Given the description of an element on the screen output the (x, y) to click on. 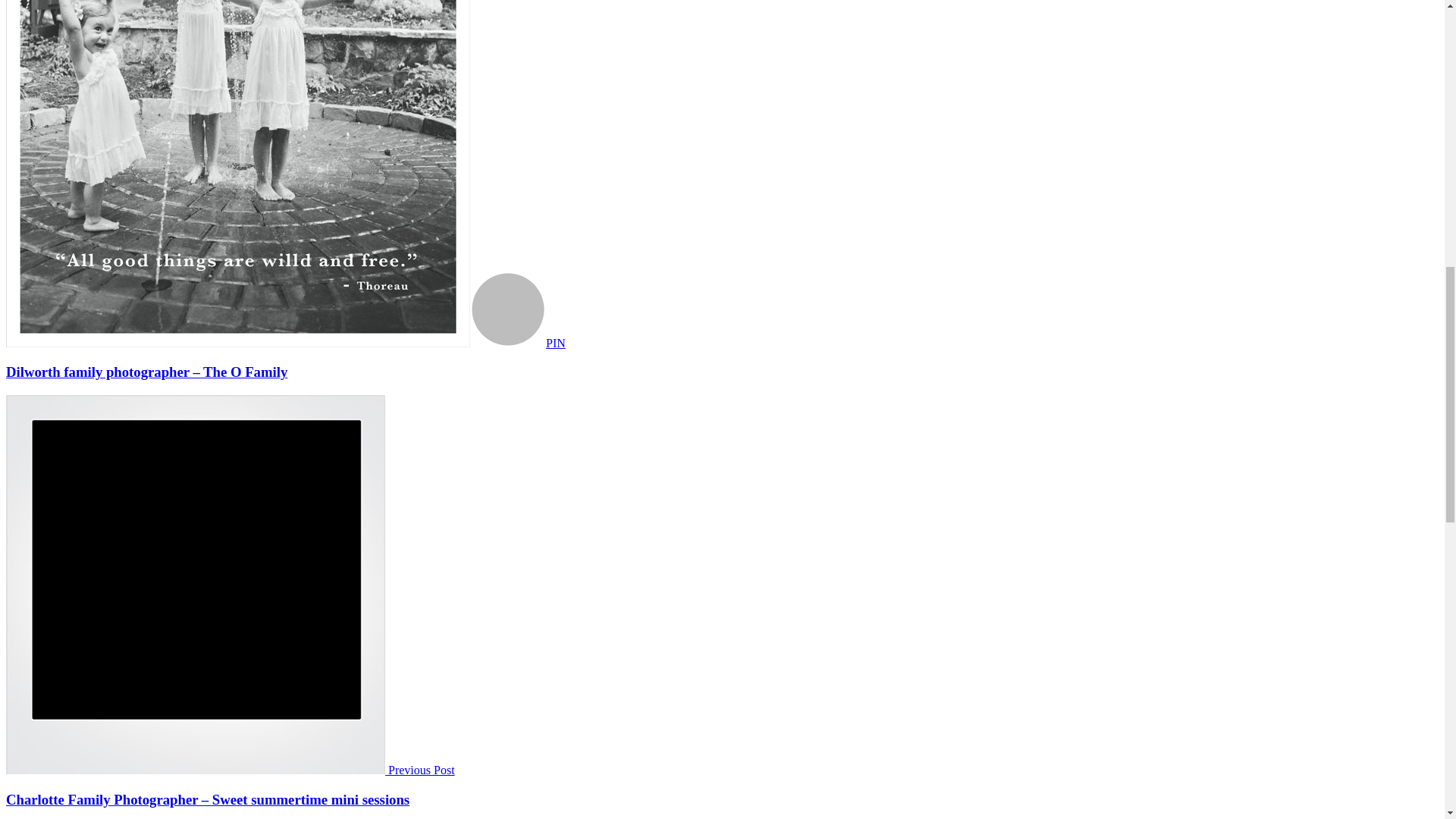
PIN (537, 342)
